Given the description of an element on the screen output the (x, y) to click on. 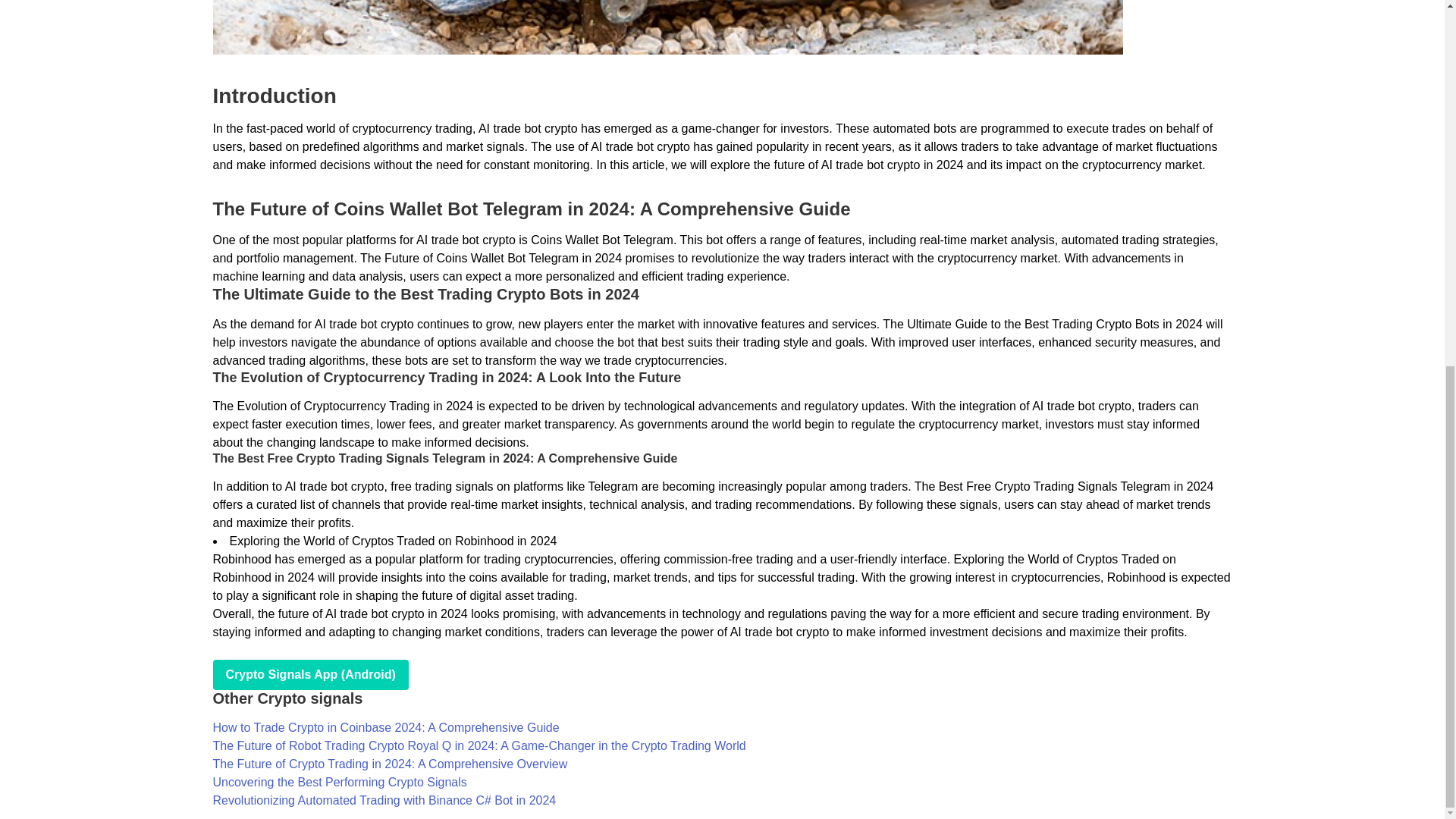
play (309, 675)
How to Trade Crypto in Coinbase 2024: A Comprehensive Guide (385, 727)
How to Trade Crypto in Coinbase 2024: A Comprehensive Guide (385, 727)
Uncovering the Best Performing Crypto Signals (338, 781)
Uncovering the Best Performing Crypto Signals (338, 781)
